Given the description of an element on the screen output the (x, y) to click on. 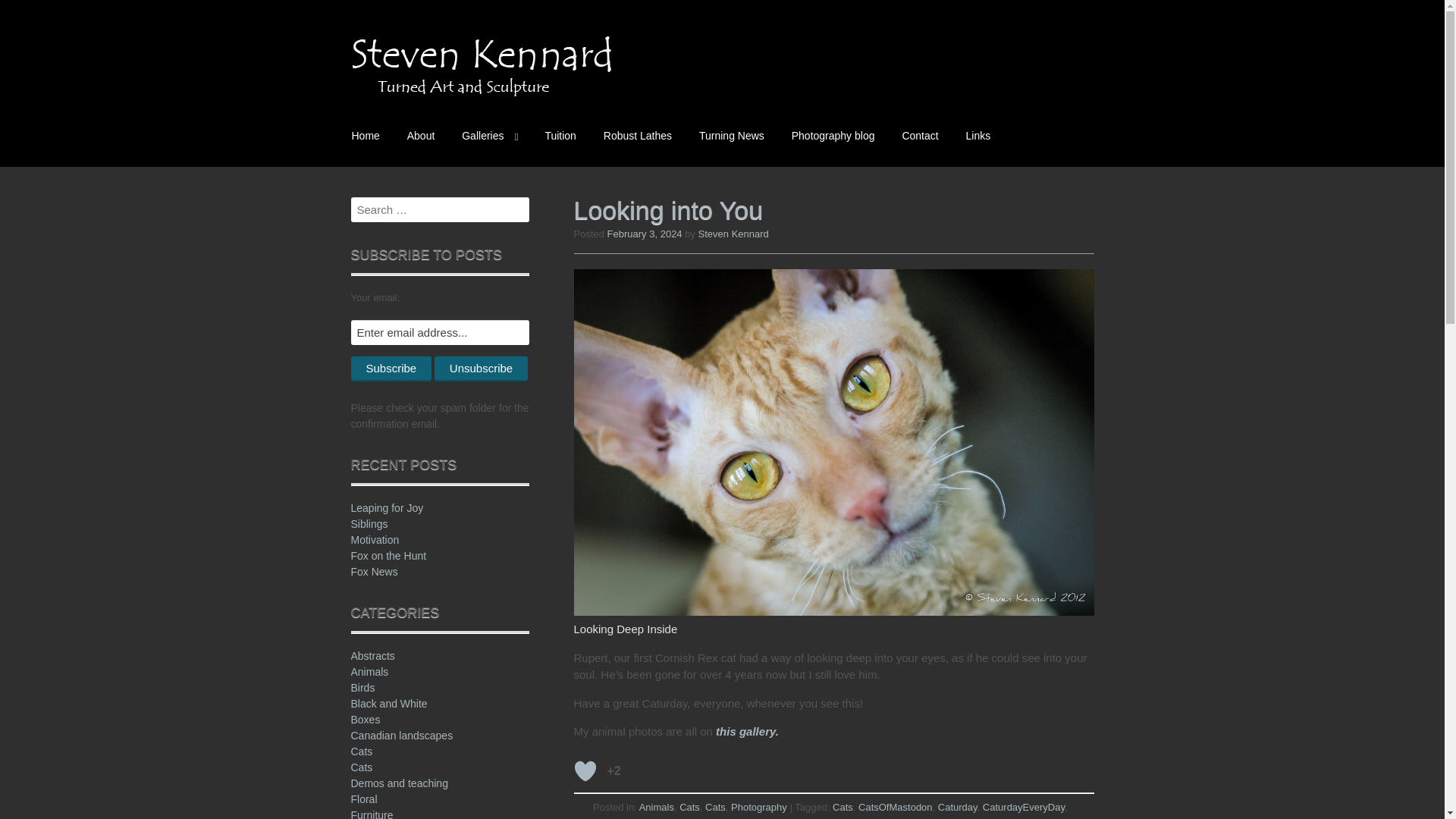
Robust Lathes (637, 136)
4 Comments (913, 817)
Caturday (956, 807)
February 3, 2024 (644, 233)
Cats (689, 807)
Animals (656, 807)
CornishRexCats (609, 817)
Home (365, 136)
Photography (678, 817)
Looking into You (667, 209)
